Given the description of an element on the screen output the (x, y) to click on. 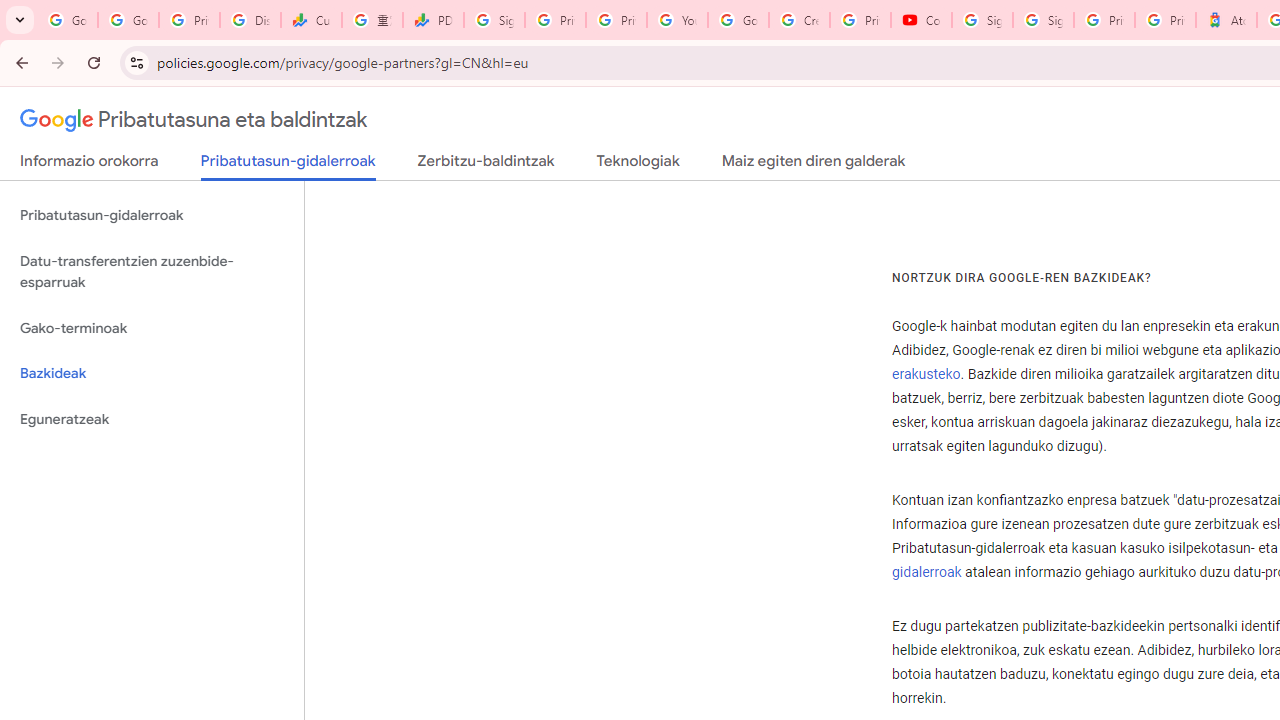
Informazio orokorra (89, 165)
YouTube (676, 20)
Google Account Help (738, 20)
Sign in - Google Accounts (1042, 20)
Create your Google Account (799, 20)
Zerbitzu-baldintzak (486, 165)
Teknologiak (637, 165)
Eguneratzeak (152, 419)
Atour Hotel - Google hotels (1225, 20)
